Given the description of an element on the screen output the (x, y) to click on. 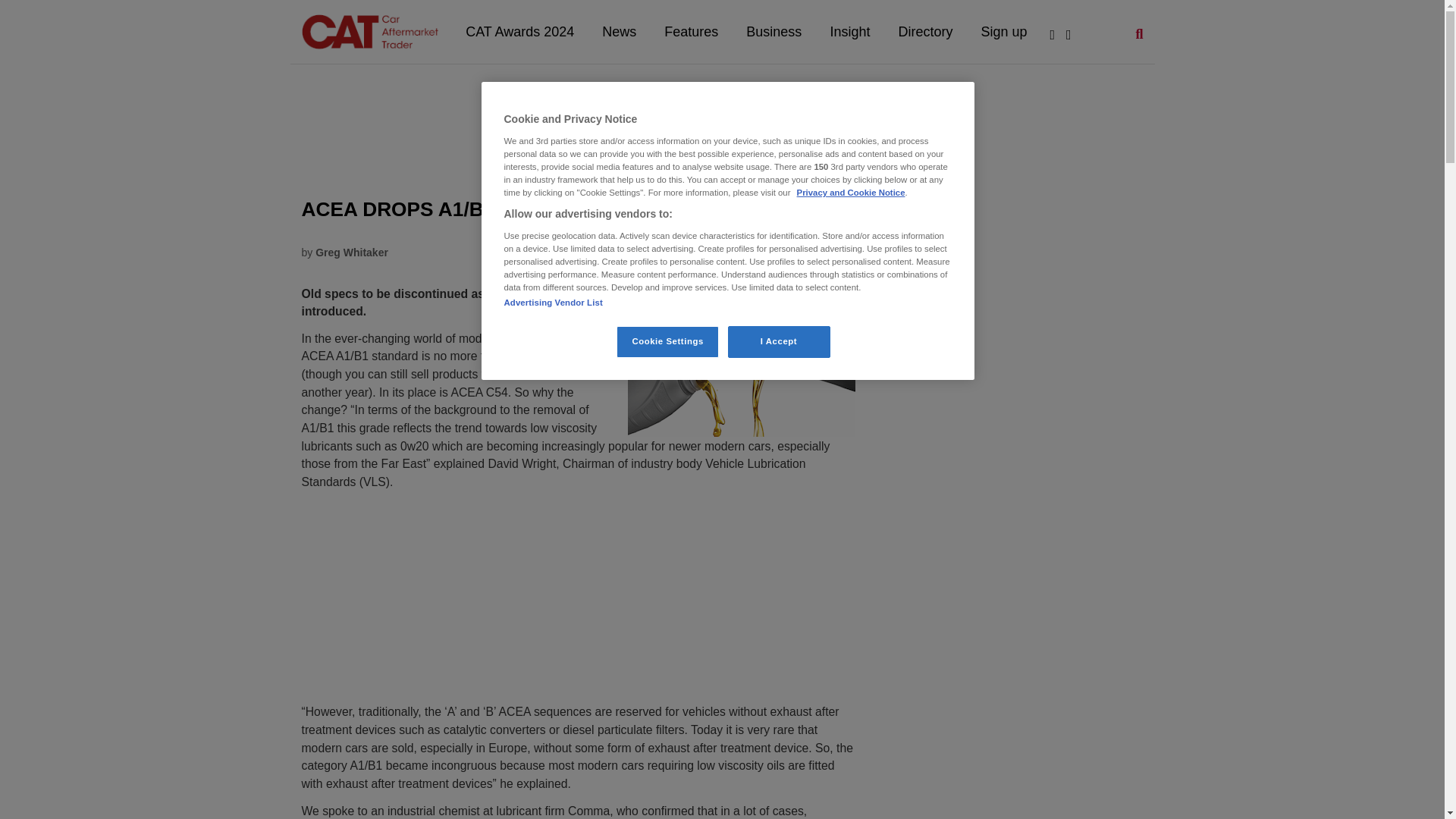
Features (691, 31)
Directory (926, 31)
Insight (850, 31)
Business (774, 31)
Greg Whitaker (351, 252)
15 January 2018 (813, 252)
News (619, 31)
Sign up (1005, 31)
CAT Awards 2024 (520, 31)
